Given the description of an element on the screen output the (x, y) to click on. 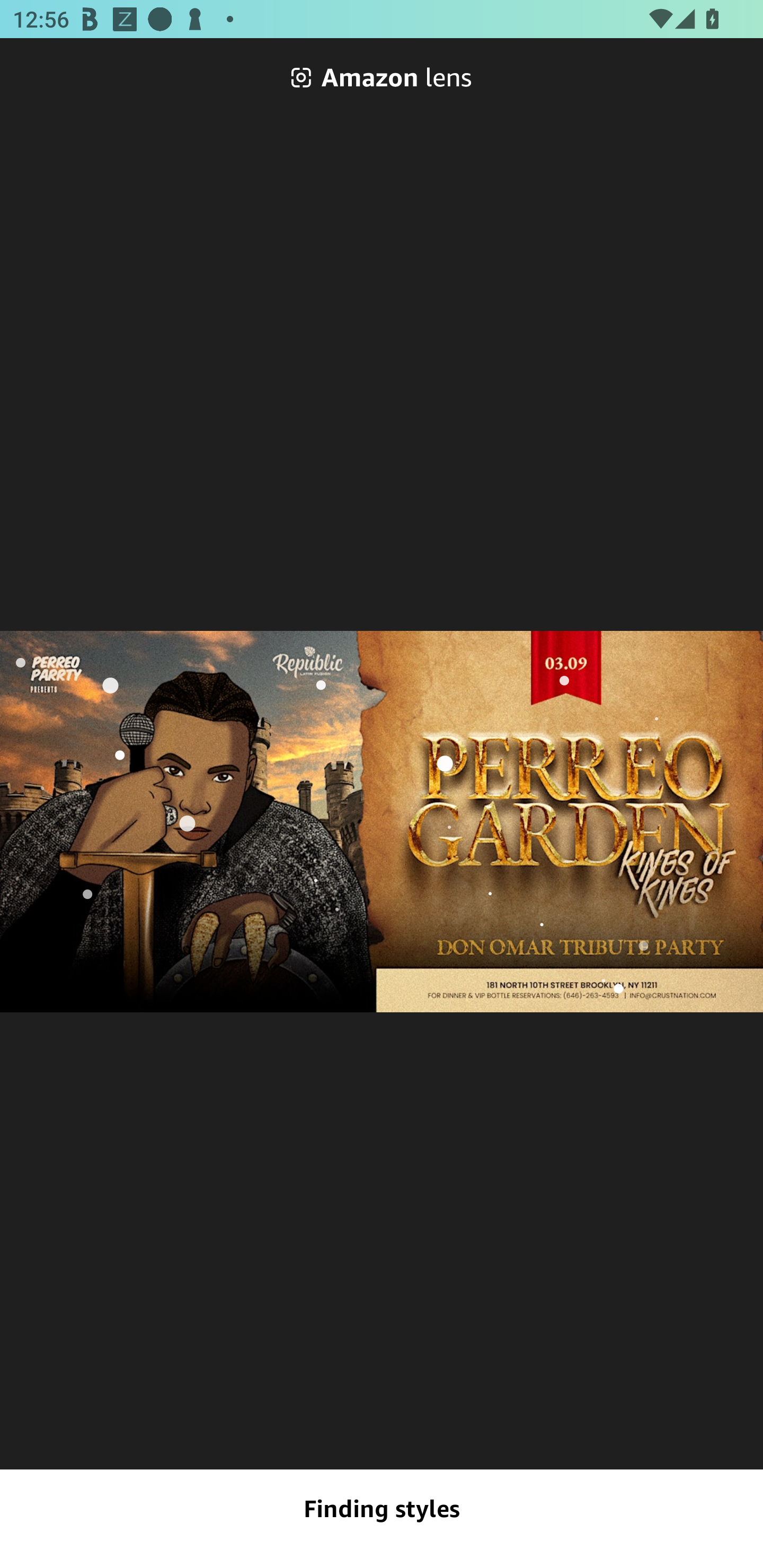
Finding styles (381, 1509)
